Given the description of an element on the screen output the (x, y) to click on. 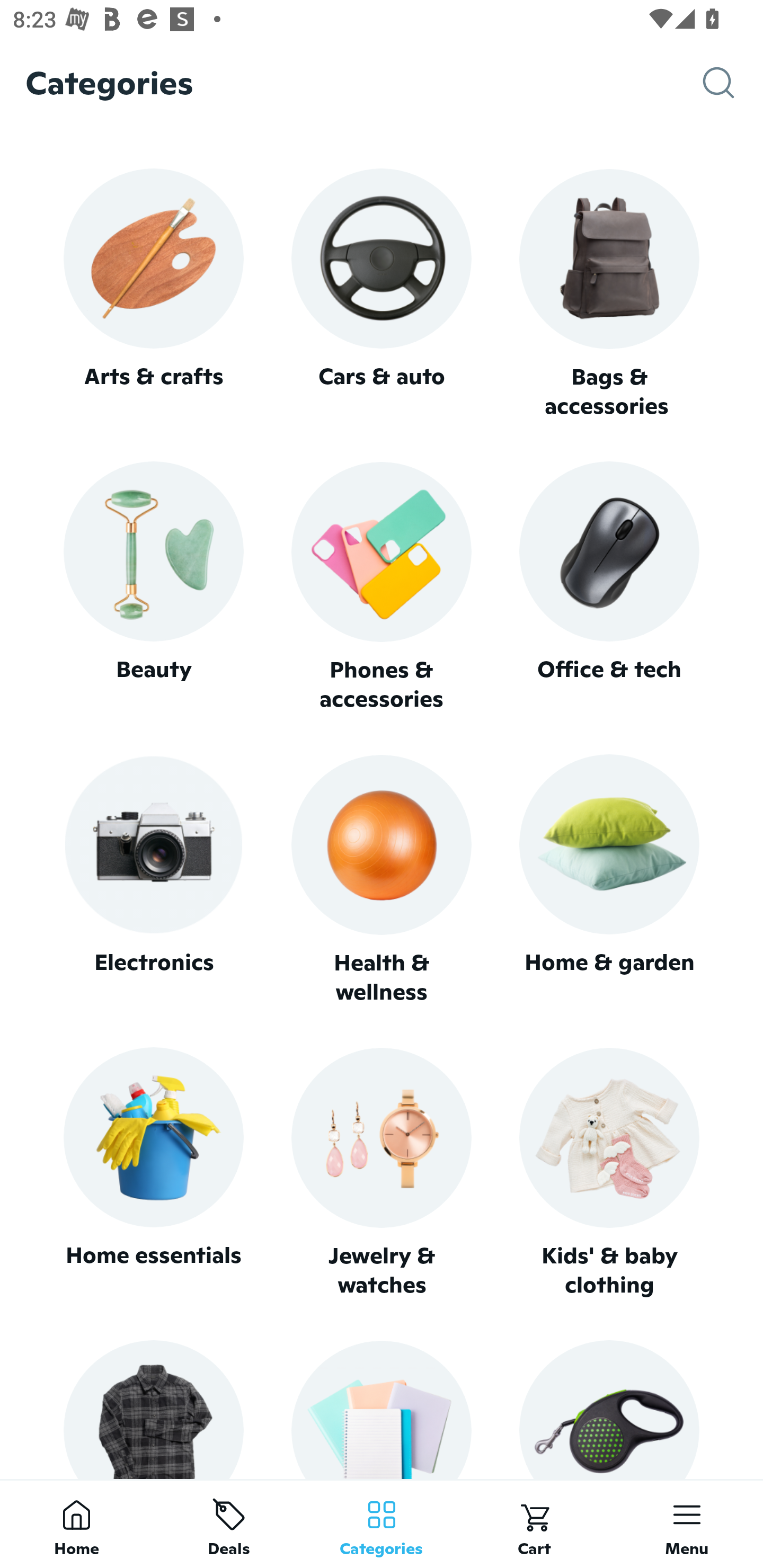
Search (732, 82)
Arts & crafts (153, 293)
Cars & auto (381, 293)
Bags & accessories  (609, 294)
Beauty (153, 586)
Office & tech (609, 586)
Phones & accessories (381, 587)
Electronics (153, 880)
Home & garden (609, 880)
Health & wellness (381, 880)
Home essentials (153, 1172)
Jewelry & watches (381, 1172)
Kids' & baby clothing (609, 1172)
Men's clothing (153, 1409)
Pet supplies (609, 1409)
Office & school supplies (381, 1409)
Home (76, 1523)
Deals (228, 1523)
Categories (381, 1523)
Cart (533, 1523)
Menu (686, 1523)
